Given the description of an element on the screen output the (x, y) to click on. 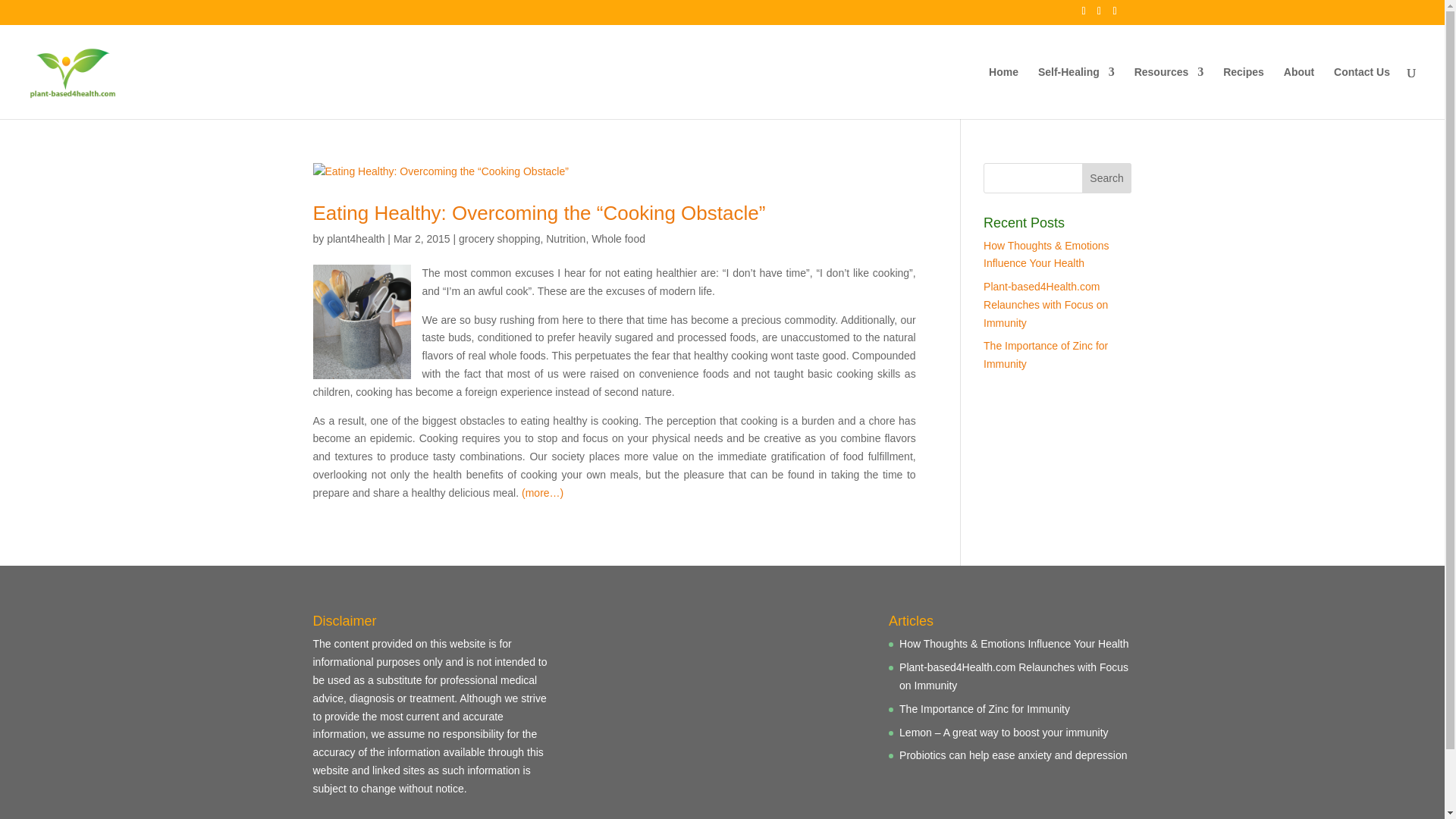
Contact Us (1361, 92)
Search (1106, 177)
Posts by plant4health (355, 238)
Resources (1169, 92)
Self-Healing (1076, 92)
